Given the description of an element on the screen output the (x, y) to click on. 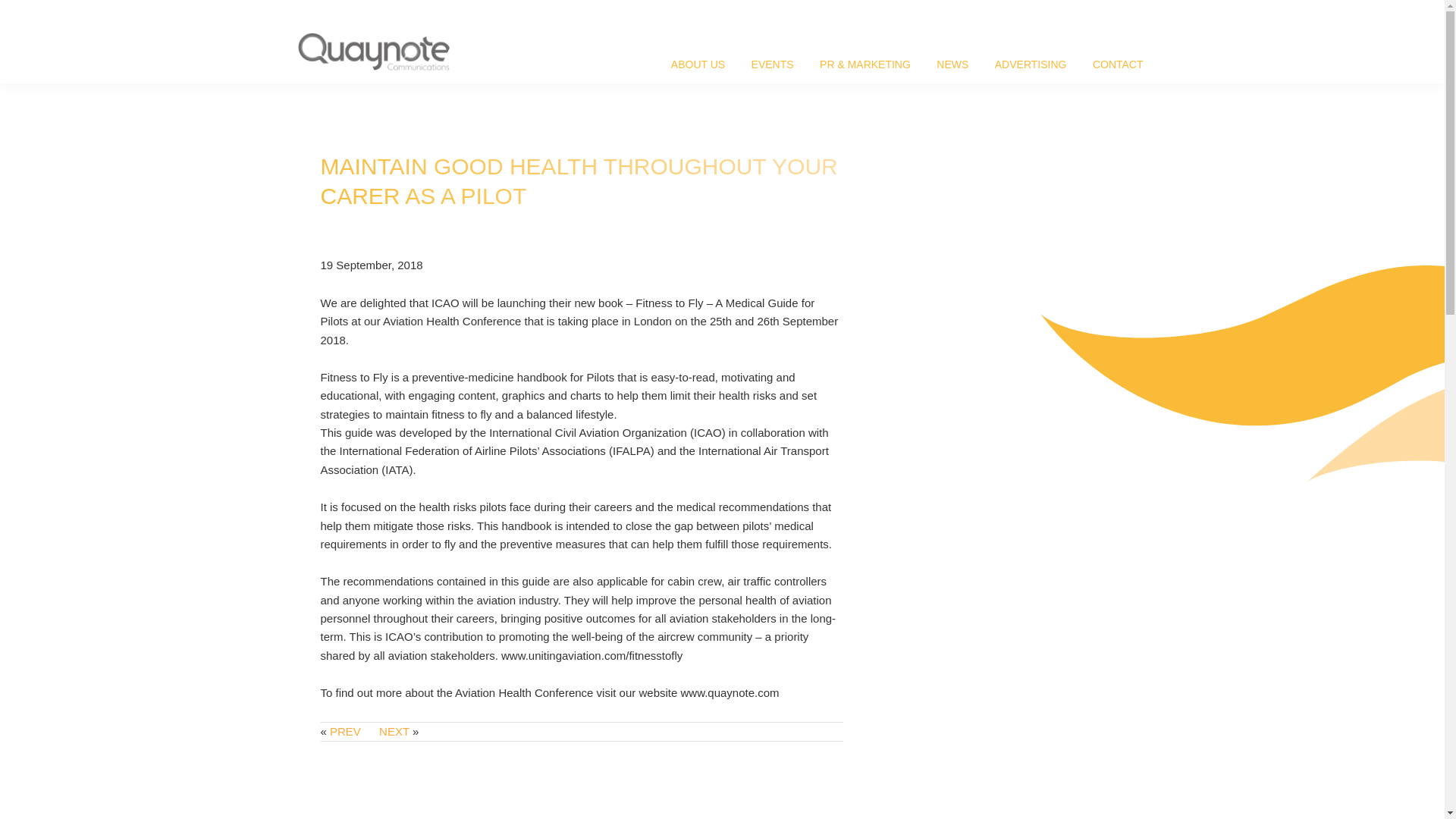
NEXT (393, 730)
ABOUT US (697, 64)
EVENTS (772, 64)
CONTACT (1117, 64)
ADVERTISING (1031, 64)
PREV (345, 730)
NEWS (951, 64)
Quaynote Communications (372, 52)
